Given the description of an element on the screen output the (x, y) to click on. 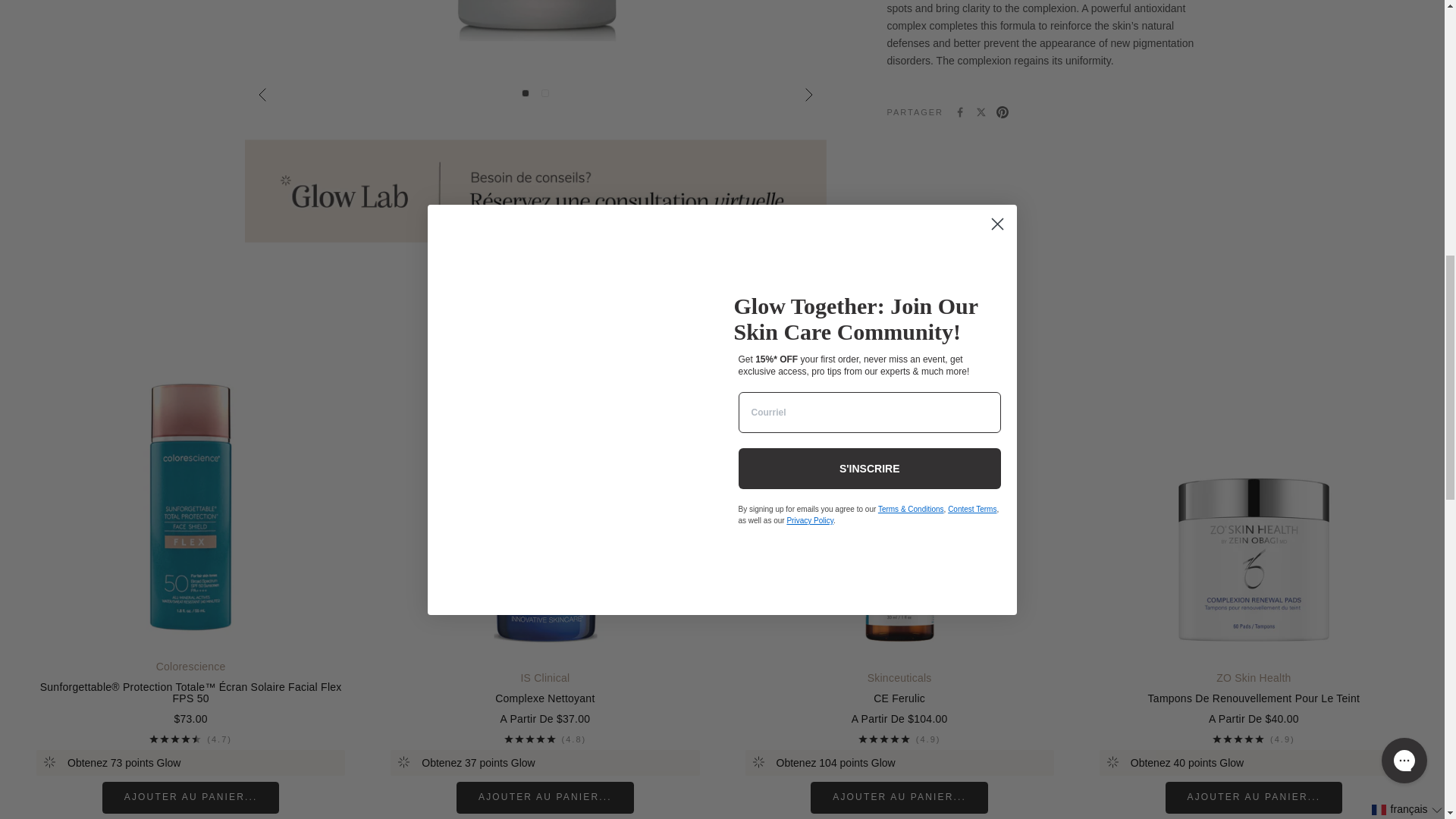
16 avis (899, 738)
11 avis (190, 738)
11 avis (1253, 738)
25 avis (544, 738)
